Given the description of an element on the screen output the (x, y) to click on. 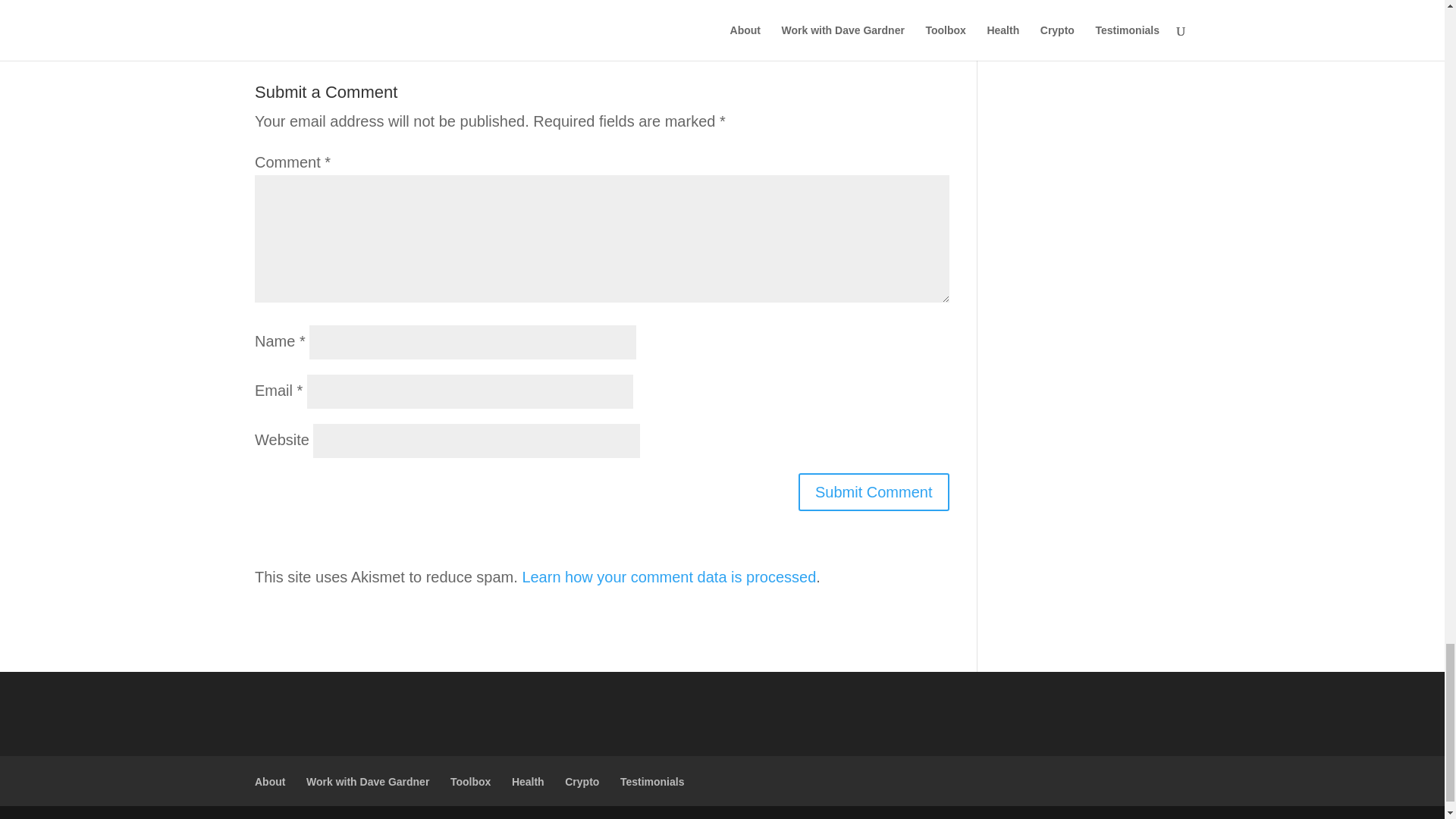
Crypto (581, 781)
Work with Dave Gardner (367, 781)
Testimonials (652, 781)
About (269, 781)
Health (528, 781)
Learn how your comment data is processed (668, 576)
Toolbox (469, 781)
Submit Comment (873, 492)
Submit Comment (873, 492)
